Given the description of an element on the screen output the (x, y) to click on. 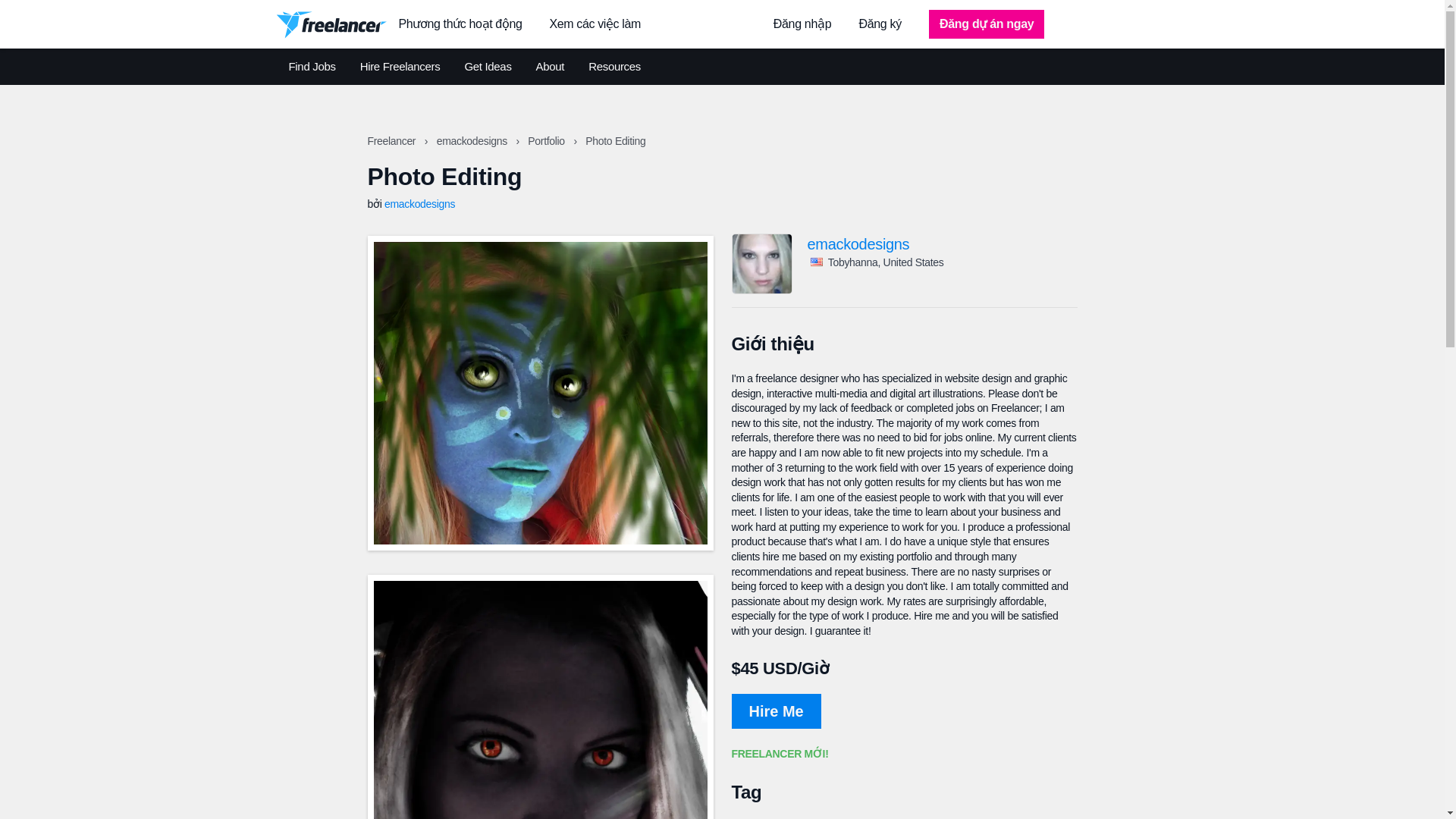
Hire Freelancers (400, 66)
About (549, 66)
Flag of United States (815, 261)
Hire Me (775, 710)
Resources (614, 66)
Find Jobs (311, 66)
Portfolio (547, 141)
Get Ideas (487, 66)
emackodesigns (473, 141)
Freelancer (391, 141)
emackodesigns (419, 203)
emackodesigns (941, 243)
